Given the description of an element on the screen output the (x, y) to click on. 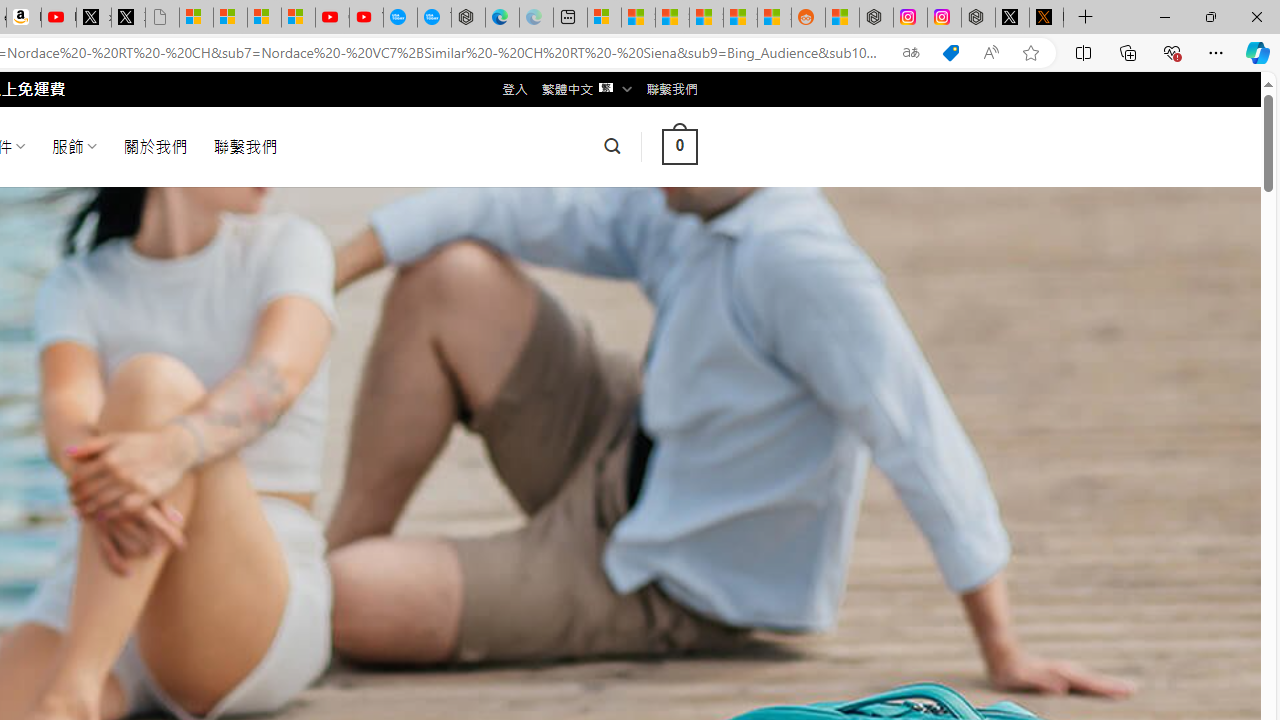
Shanghai, China hourly forecast | Microsoft Weather (671, 17)
Gloom - YouTube (332, 17)
Nordace - Nordace has arrived Hong Kong (468, 17)
 0  (679, 146)
The most popular Google 'how to' searches (434, 17)
